Given the description of an element on the screen output the (x, y) to click on. 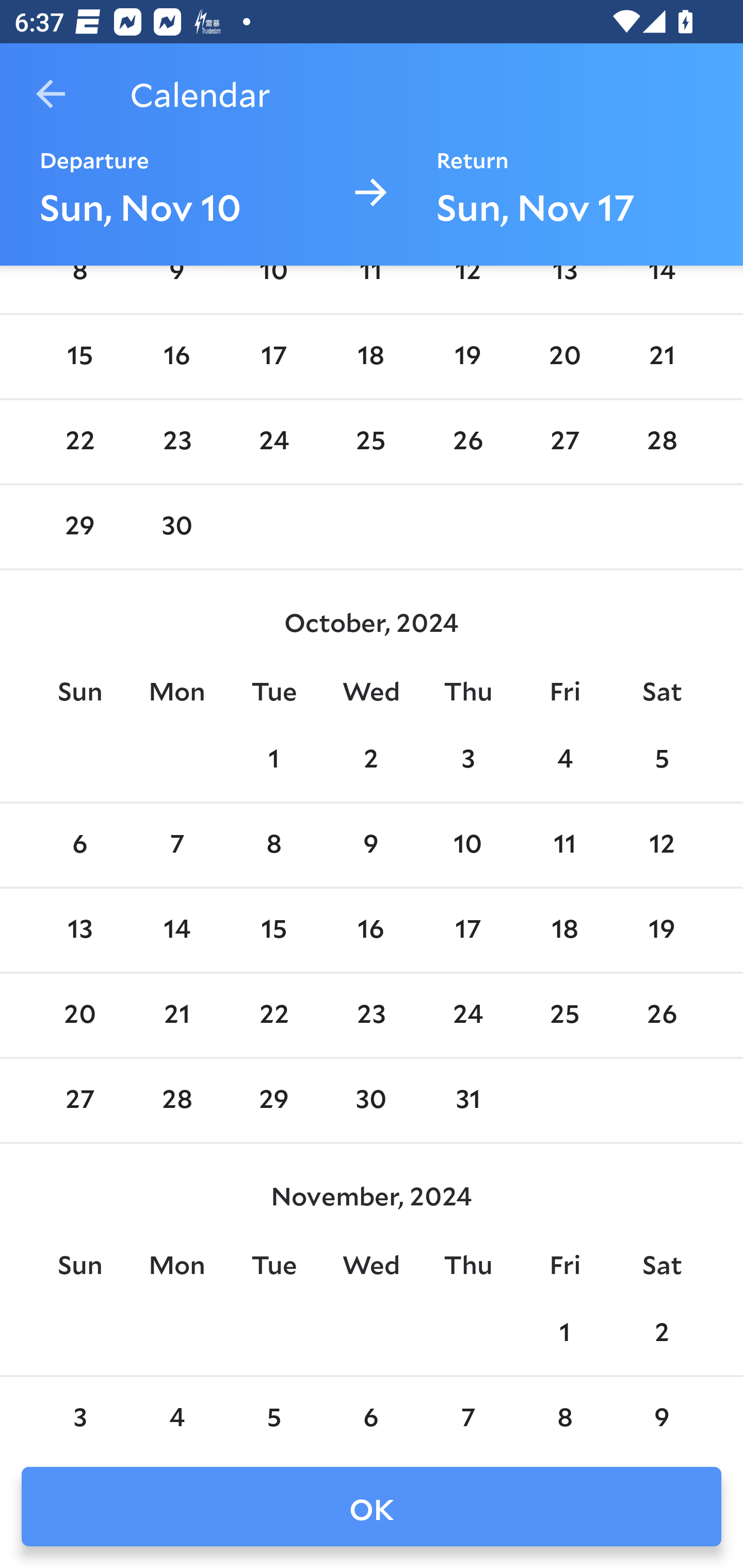
Navigate up (50, 93)
15 (79, 357)
16 (177, 357)
17 (273, 357)
18 (371, 357)
19 (467, 357)
20 (565, 357)
21 (661, 357)
22 (79, 442)
23 (177, 442)
24 (273, 442)
25 (371, 442)
26 (467, 442)
27 (565, 442)
28 (661, 442)
29 (79, 526)
30 (177, 526)
1 (273, 760)
2 (371, 760)
3 (467, 760)
4 (565, 760)
5 (661, 760)
6 (79, 845)
7 (177, 845)
8 (273, 845)
9 (371, 845)
10 (467, 845)
11 (565, 845)
12 (661, 845)
13 (79, 929)
14 (177, 929)
15 (273, 929)
16 (371, 929)
17 (467, 929)
18 (565, 929)
19 (661, 929)
20 (79, 1016)
21 (177, 1016)
22 (273, 1016)
23 (371, 1016)
24 (467, 1016)
25 (565, 1016)
26 (661, 1016)
27 (79, 1100)
28 (177, 1100)
29 (273, 1100)
30 (371, 1100)
31 (467, 1100)
1 (565, 1334)
2 (661, 1334)
